Given the description of an element on the screen output the (x, y) to click on. 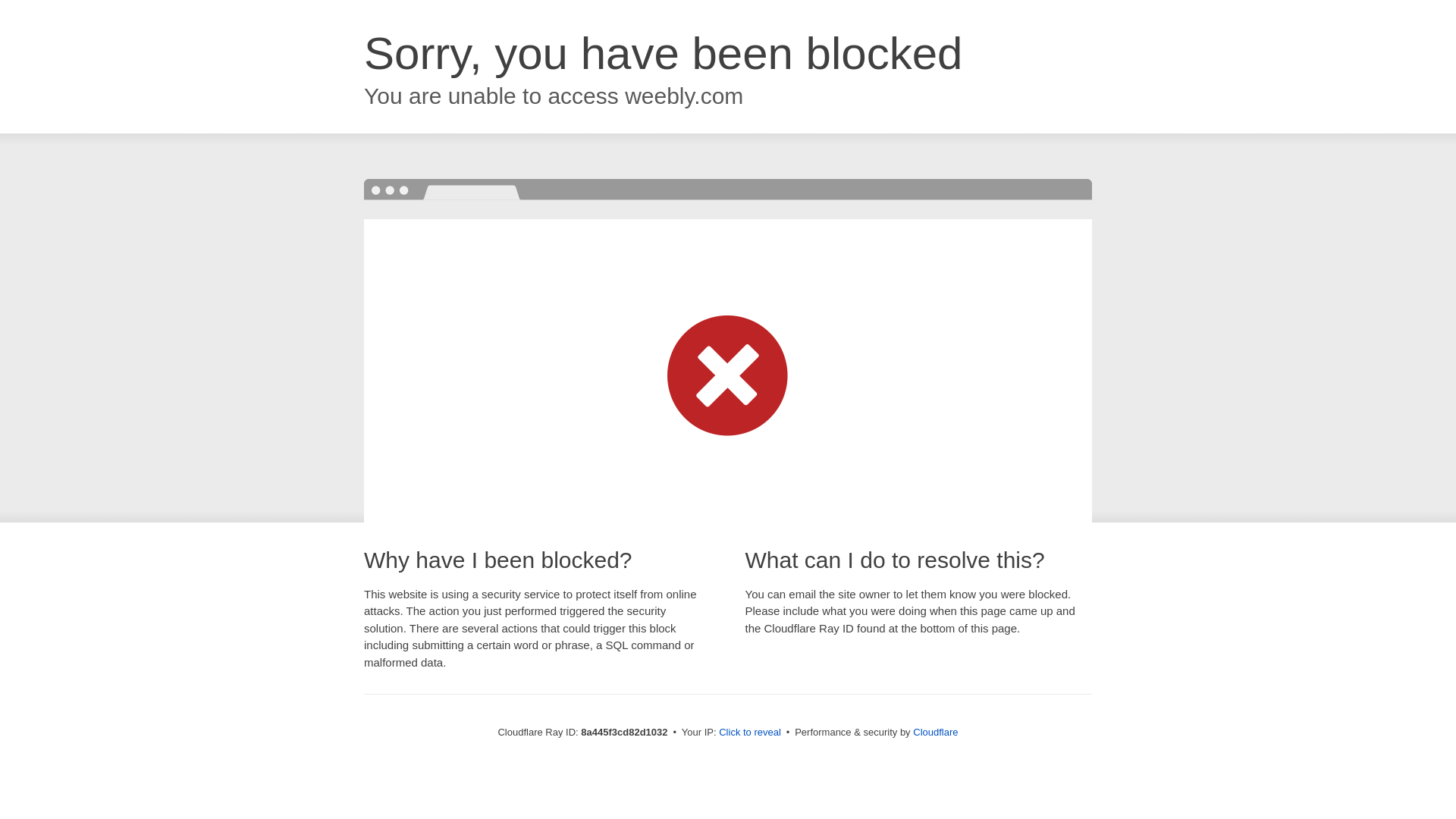
Cloudflare (935, 731)
Click to reveal (749, 732)
